Given the description of an element on the screen output the (x, y) to click on. 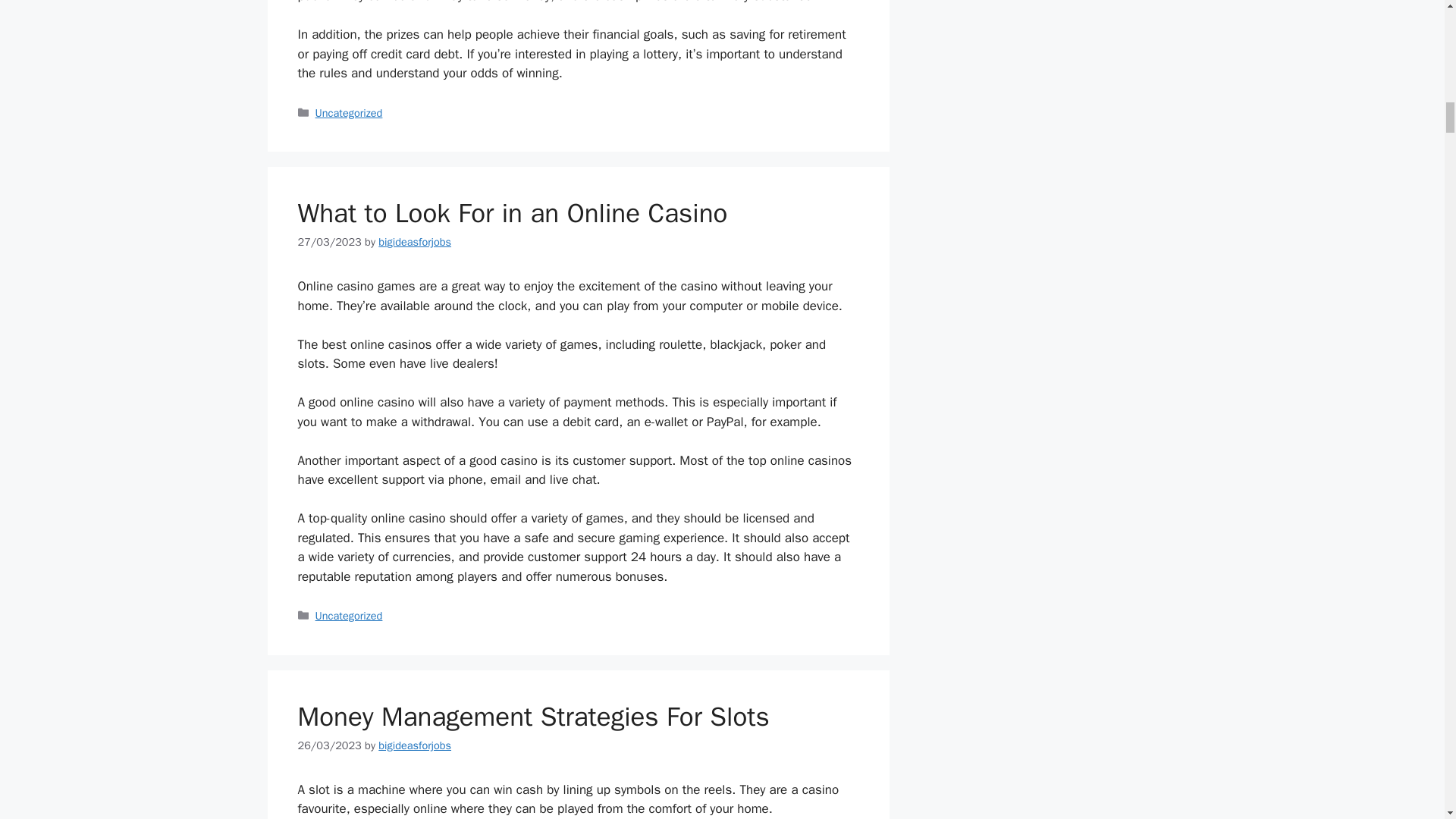
View all posts by bigideasforjobs (414, 241)
Uncategorized (348, 112)
bigideasforjobs (414, 241)
View all posts by bigideasforjobs (414, 745)
Uncategorized (348, 615)
Money Management Strategies For Slots (532, 716)
What to Look For in an Online Casino (511, 213)
bigideasforjobs (414, 745)
